Given the description of an element on the screen output the (x, y) to click on. 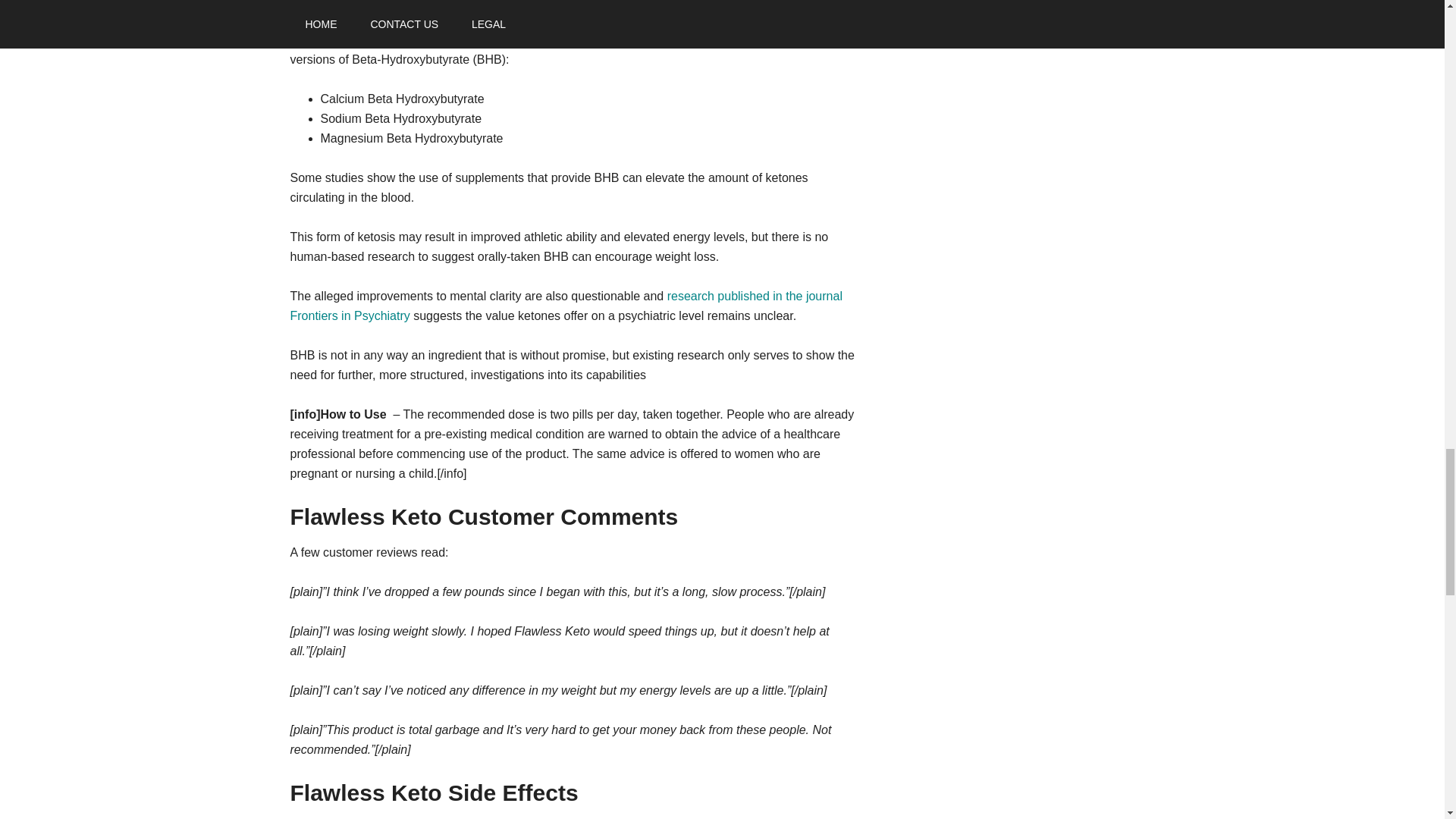
research published in the journal Frontiers in Psychiatry (565, 305)
